Given the description of an element on the screen output the (x, y) to click on. 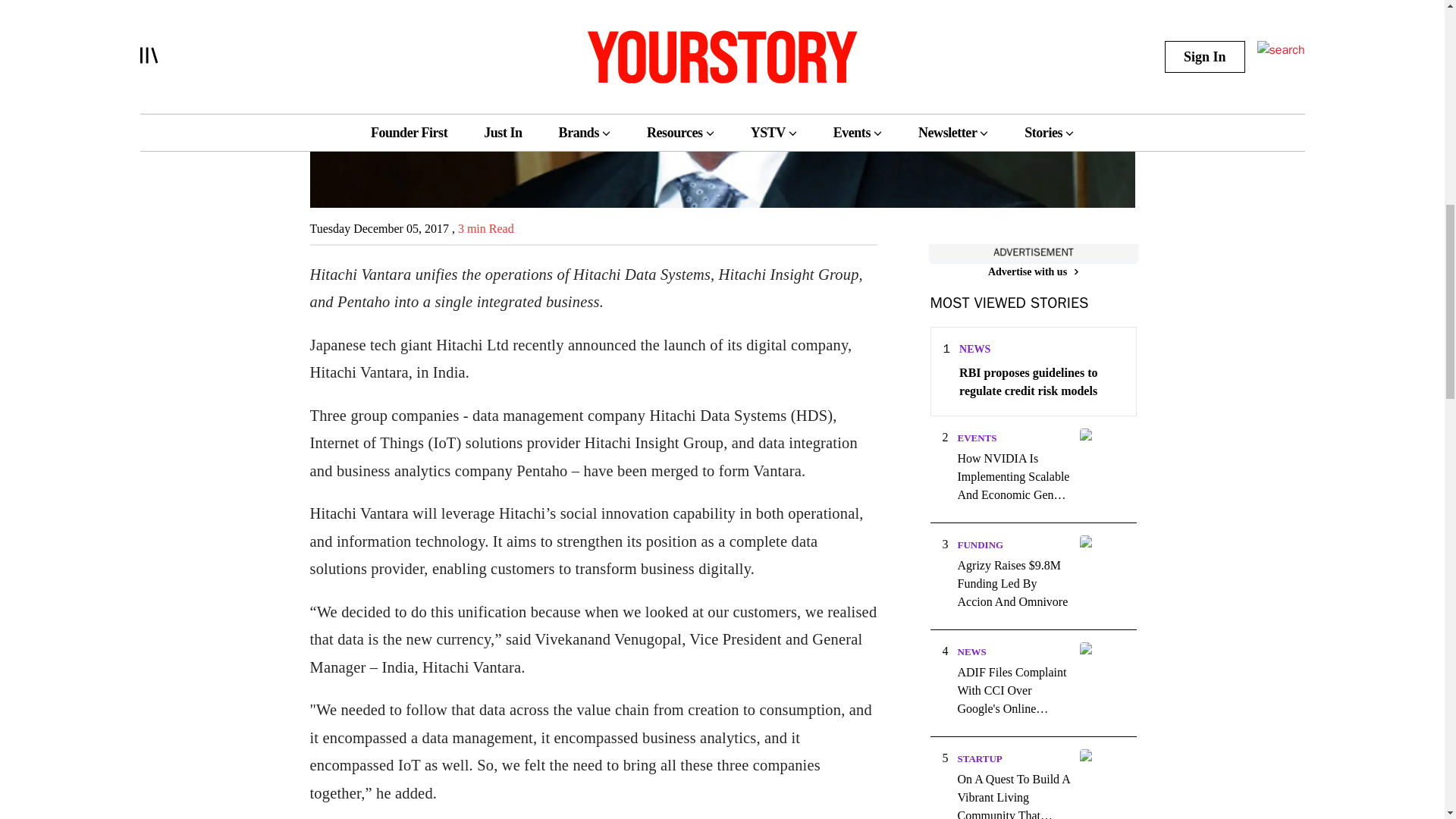
FUNDING (979, 544)
STARTUP (978, 758)
NEWS (974, 348)
Advertise with us (1032, 271)
EVENTS (975, 437)
NEWS (970, 651)
RBI proposes guidelines to regulate credit risk models (1040, 381)
